Given the description of an element on the screen output the (x, y) to click on. 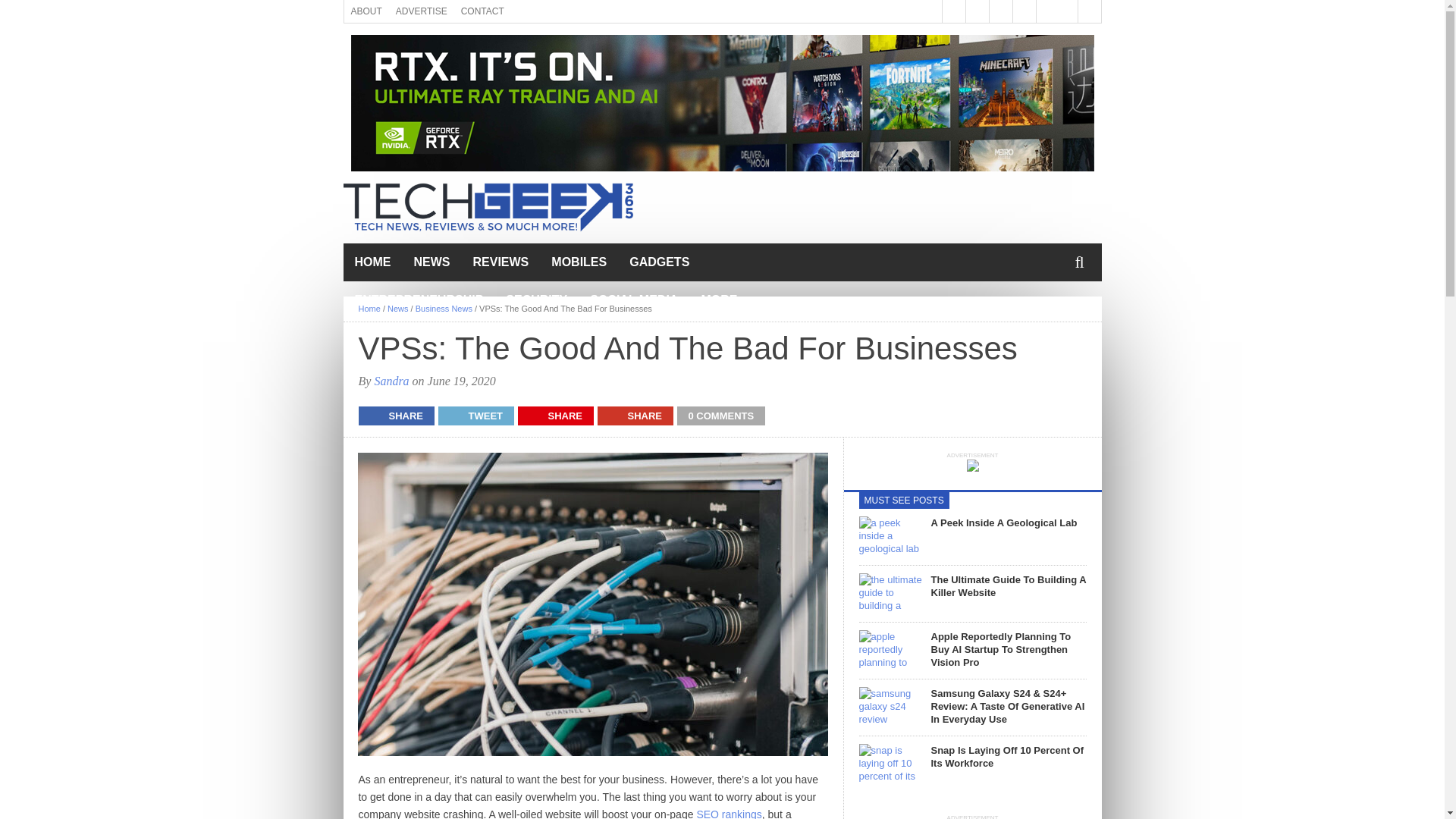
ADVERTISE (421, 11)
ABOUT (365, 11)
MOBILES (578, 262)
HOME (371, 262)
GADGETS (658, 262)
Posts by Sandra (391, 380)
ENTREPRENEURSHIP (418, 300)
CONTACT (482, 11)
REVIEWS (500, 262)
NEWS (431, 262)
